Given the description of an element on the screen output the (x, y) to click on. 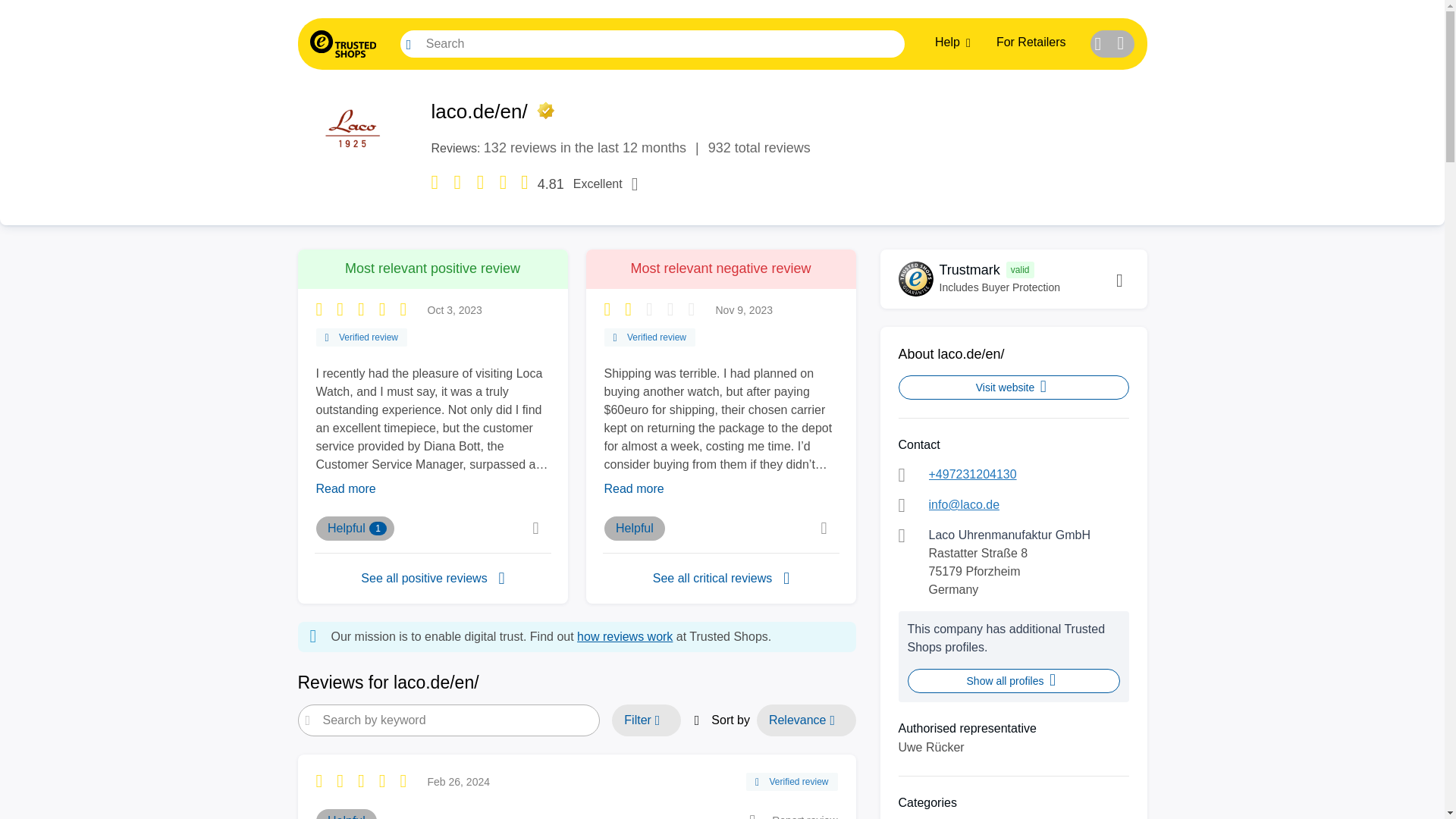
For Retailers (1030, 42)
Trusted Shops logo (341, 43)
Visit website (722, 43)
how reviews work (1013, 387)
See all critical reviews (624, 635)
See all positive reviews (720, 578)
Helpful (432, 578)
Helpful (634, 528)
Show all profiles (354, 528)
